Given the description of an element on the screen output the (x, y) to click on. 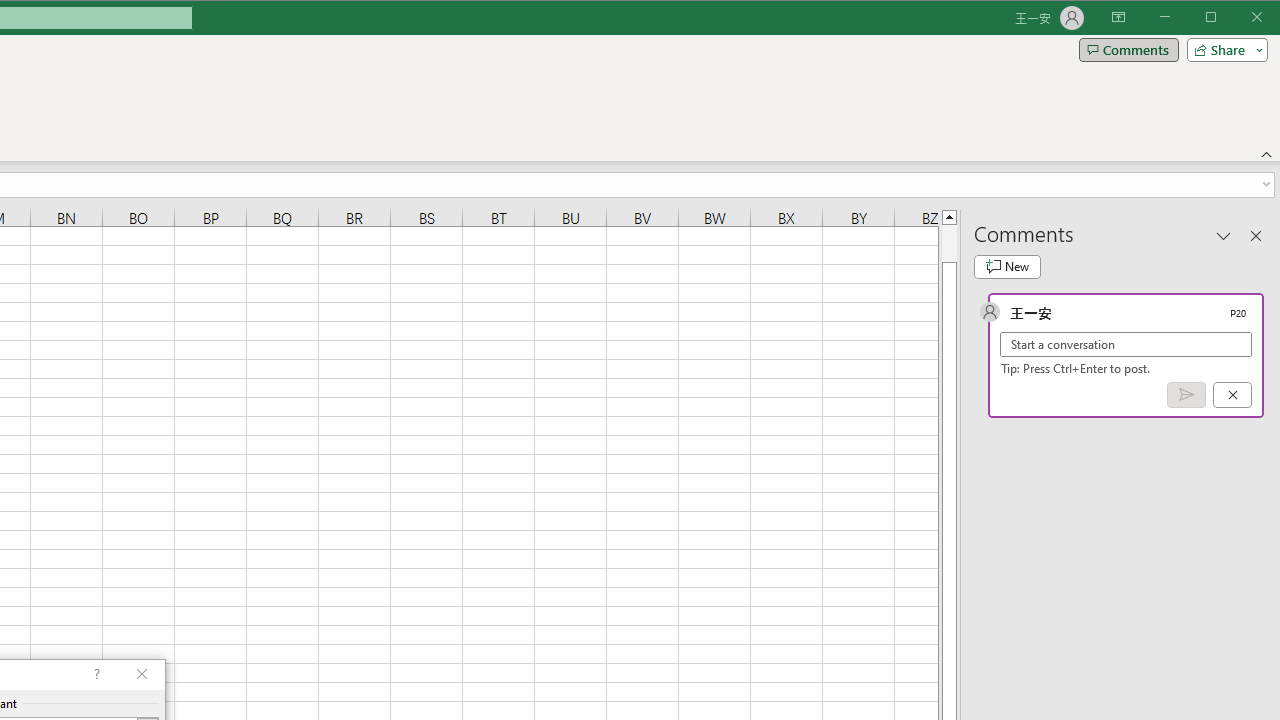
Page up (948, 243)
